Given the description of an element on the screen output the (x, y) to click on. 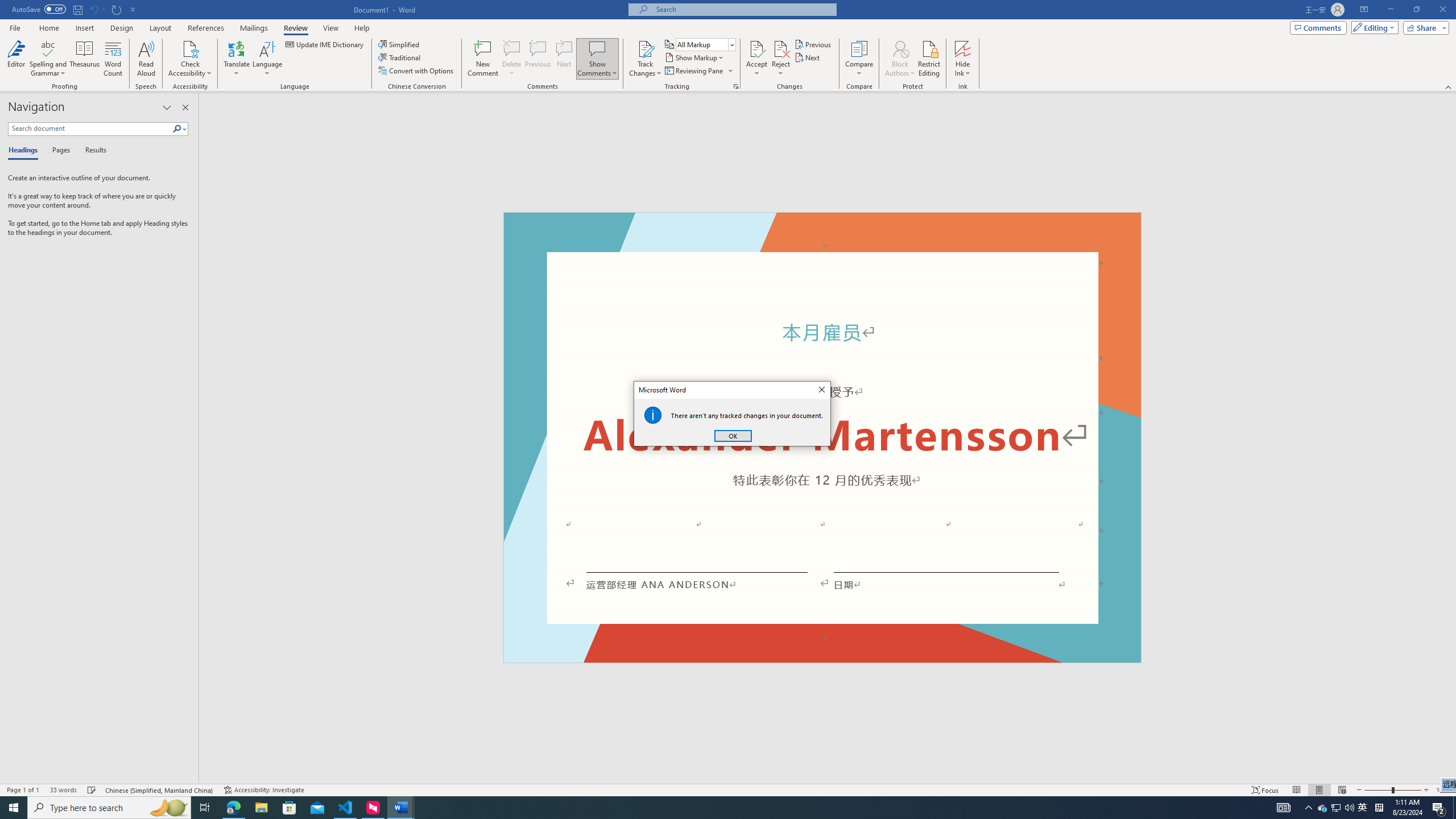
Mode (1372, 27)
Comments (1318, 27)
Pages (1362, 807)
Action Center, 2 new notifications (59, 150)
Spelling and Grammar (1439, 807)
Show Comments (48, 58)
Read Aloud (597, 58)
Focus  (145, 58)
Microsoft Edge - 1 running window (1265, 790)
Restrict Editing (233, 807)
Class: MsoCommandBar (929, 58)
Search highlights icon opens search home window (728, 789)
Spelling and Grammar Check Checking (167, 807)
